Given the description of an element on the screen output the (x, y) to click on. 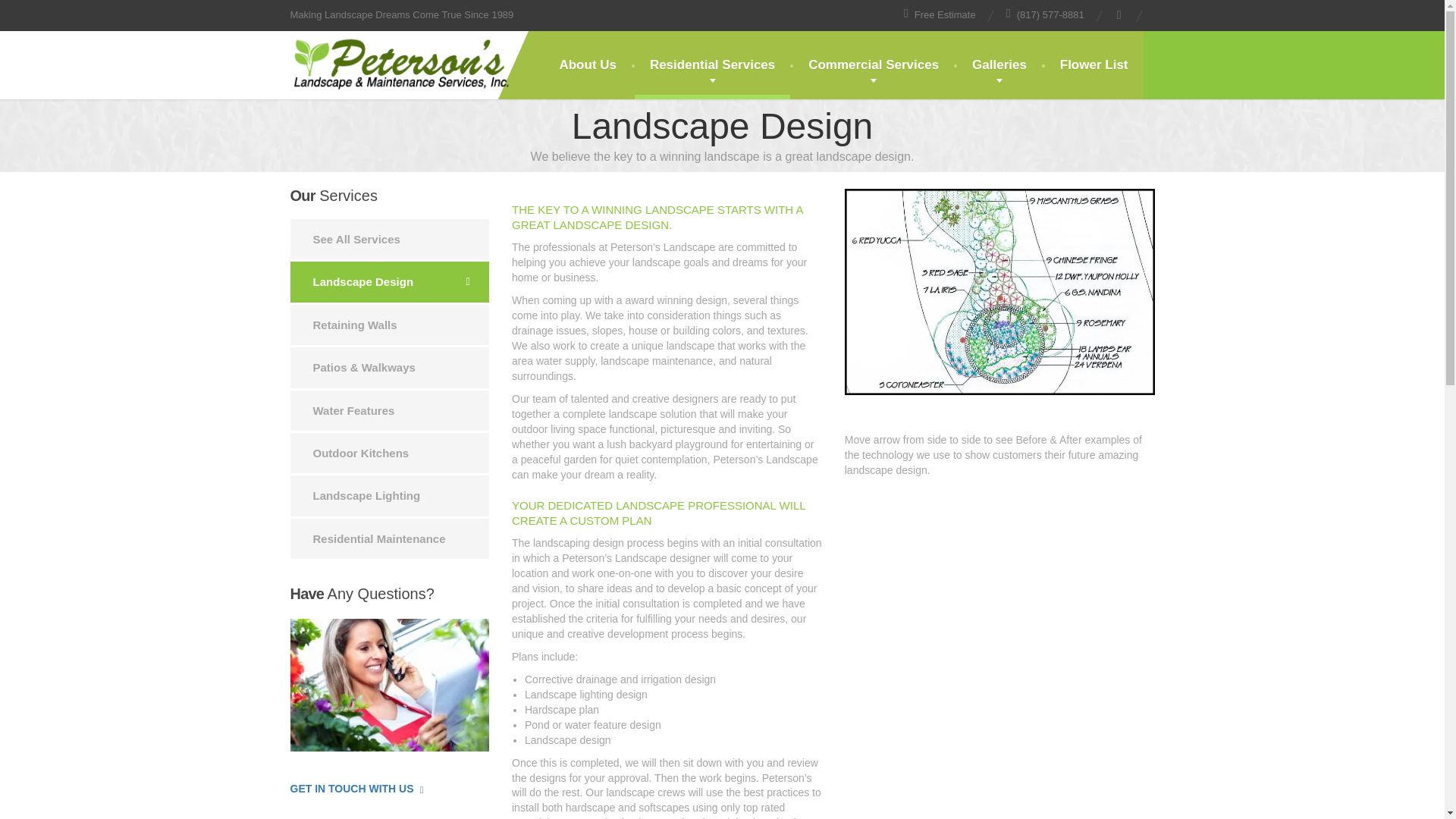
Flower List (1093, 65)
Commercial Services (873, 65)
Landscape Design (389, 281)
See All Services (389, 239)
Residential Services (712, 65)
Galleries (999, 65)
About Us (587, 65)
Retaining Walls (389, 324)
Free Estimate (939, 14)
